Given the description of an element on the screen output the (x, y) to click on. 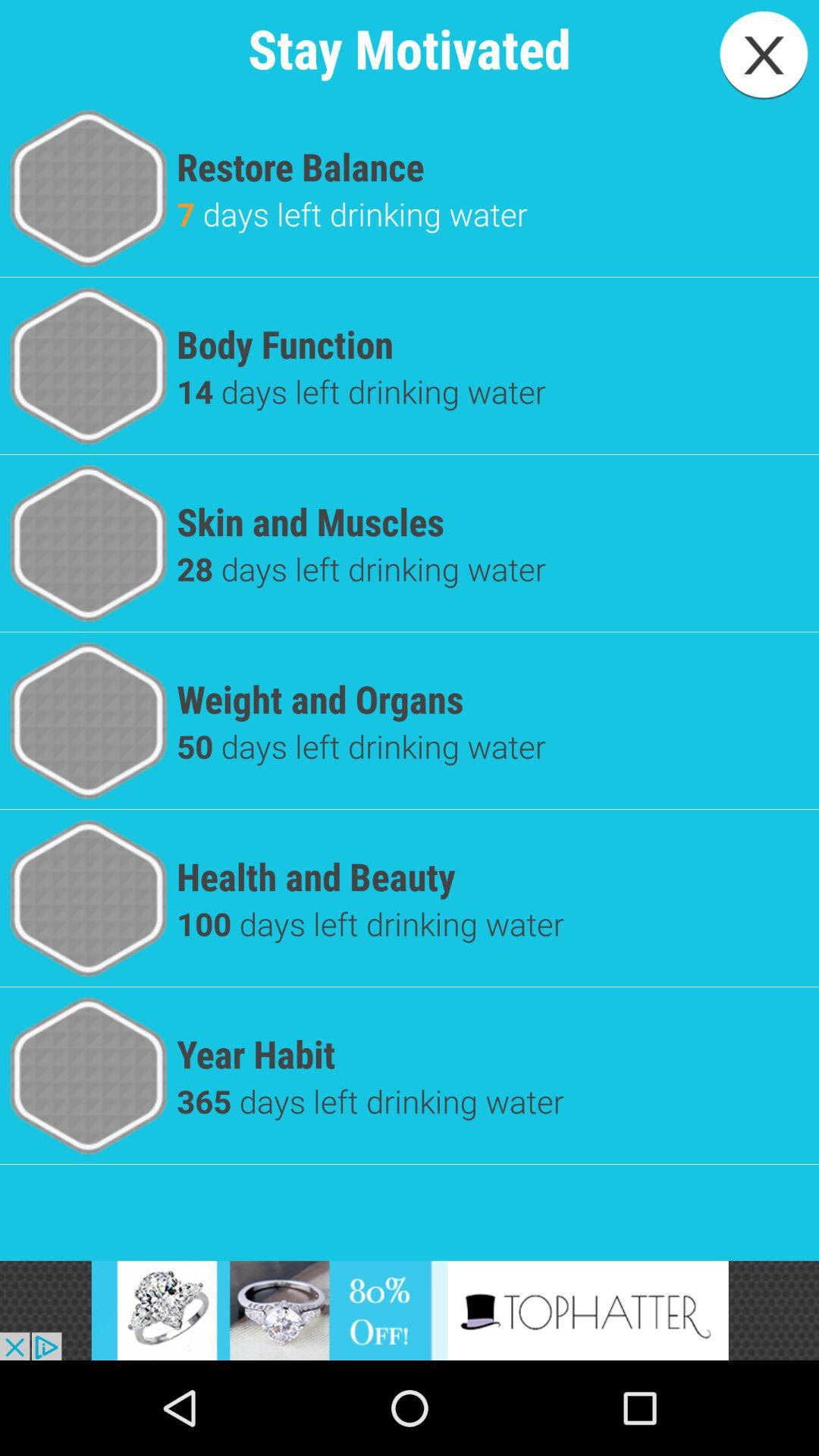
come back (763, 55)
